Given the description of an element on the screen output the (x, y) to click on. 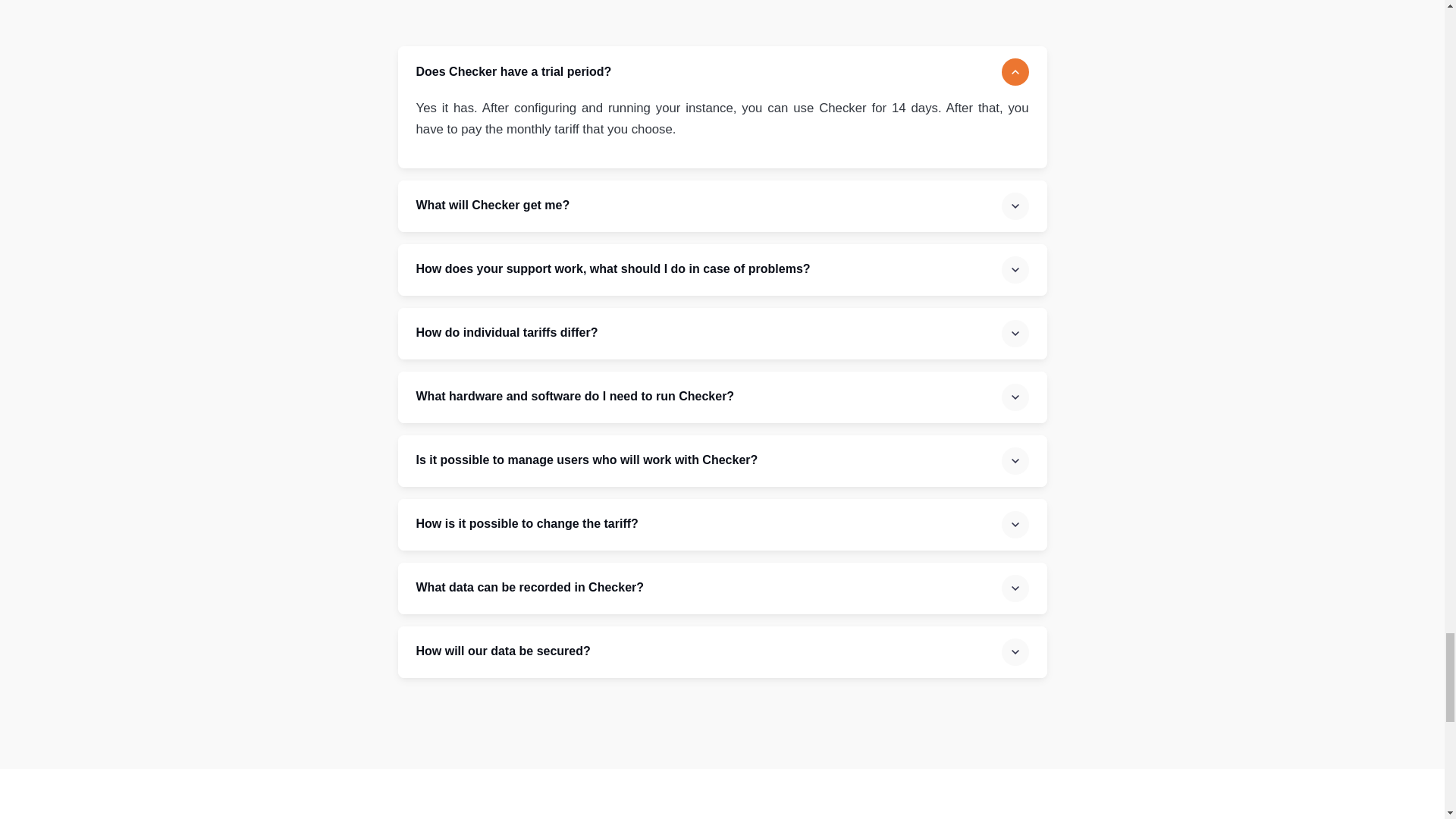
Is it possible to manage users who will work with Checker? (721, 460)
How do individual tariffs differ? (721, 333)
What will Checker get me? (721, 205)
What hardware and software do I need to run Checker? (721, 397)
Does Checker have a trial period? (721, 71)
